Given the description of an element on the screen output the (x, y) to click on. 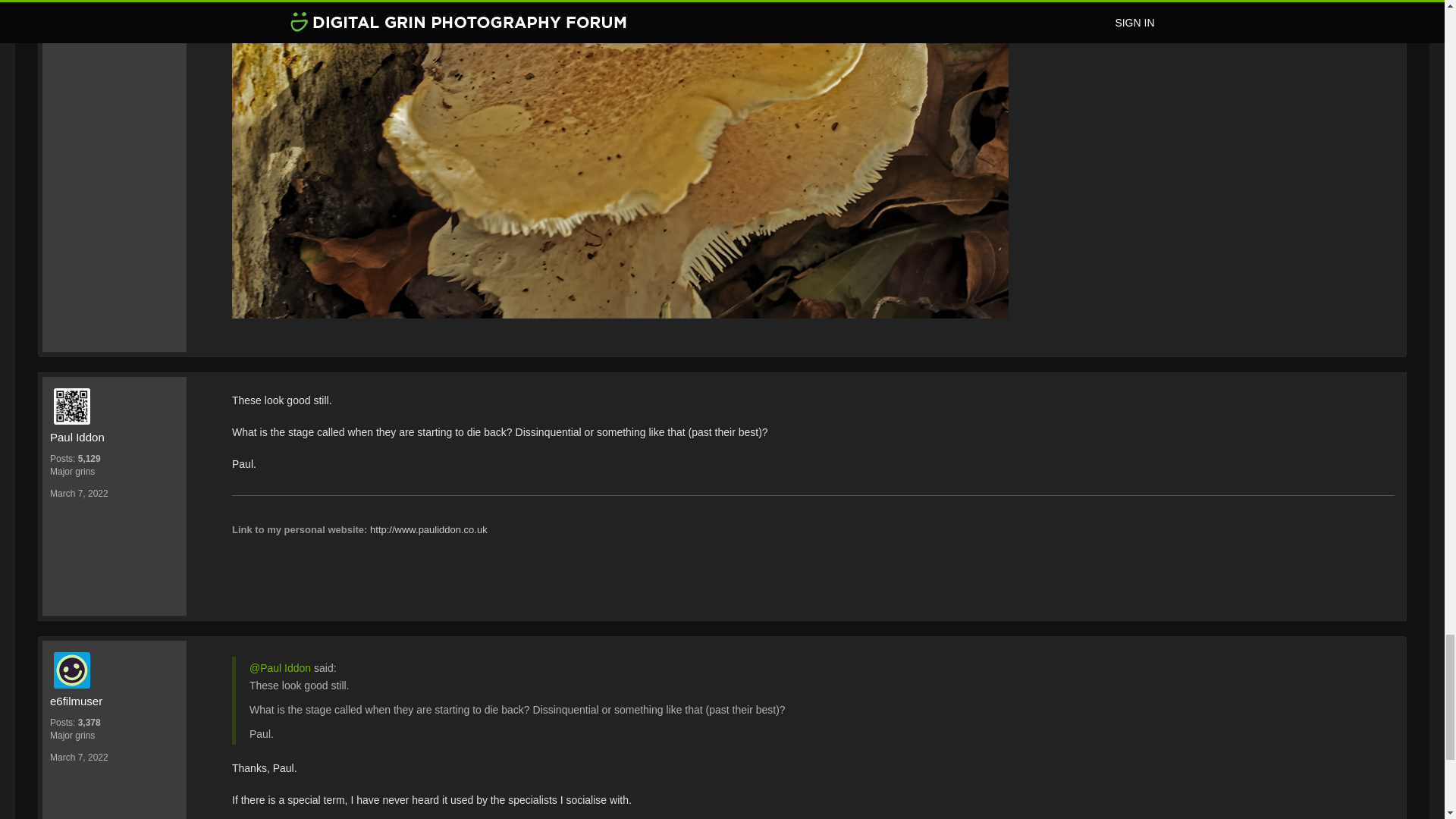
March 7, 2022 (78, 493)
e6filmuser (114, 701)
Major grins (114, 472)
Paul Iddon (114, 436)
March 7, 2022 4:11PM (78, 493)
Major grins (114, 735)
Paul Iddon (118, 406)
e6filmuser (118, 669)
March 7, 2022 (78, 757)
